Given the description of an element on the screen output the (x, y) to click on. 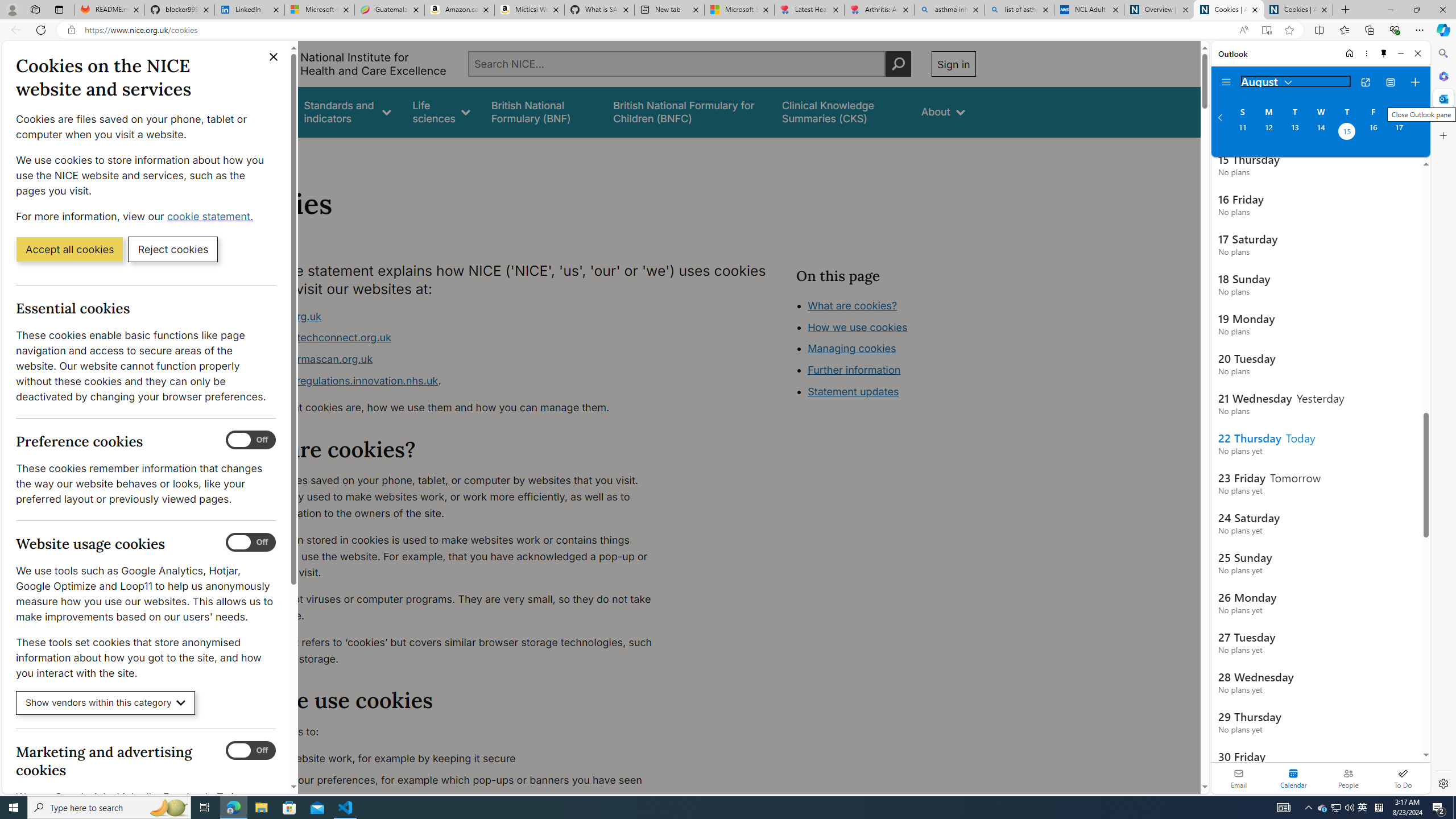
www.healthtechconnect.org.uk (452, 338)
Home> (246, 152)
Arthritis: Ask Health Professionals (879, 9)
Managing cookies (852, 348)
asthma inhaler - Search (949, 9)
